Given the description of an element on the screen output the (x, y) to click on. 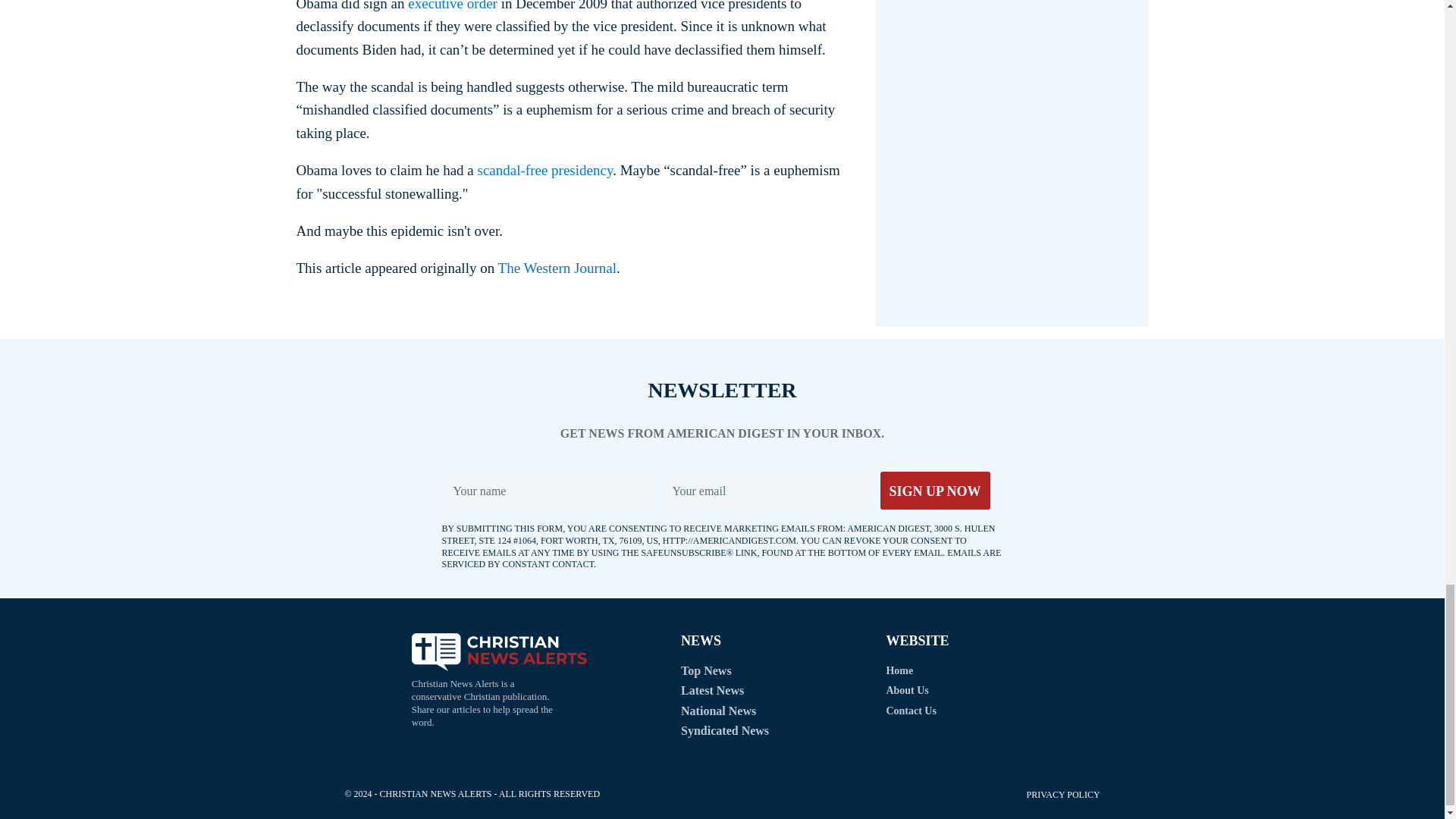
The Western Journal (556, 268)
executive order (452, 5)
scandal-free presidency (543, 170)
SIGN UP NOW (934, 490)
